Given the description of an element on the screen output the (x, y) to click on. 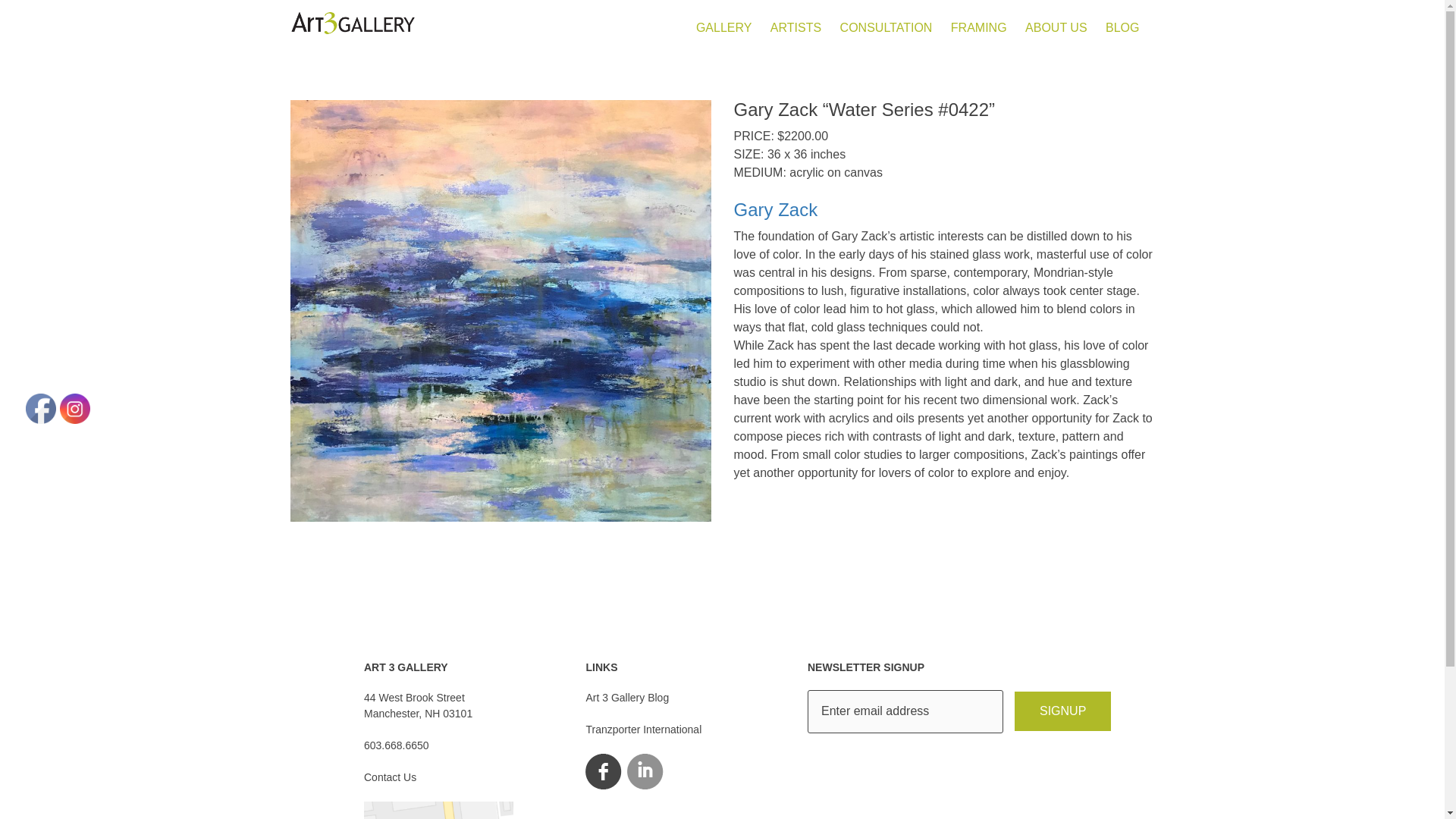
Contact Us (390, 776)
Gary Zack (943, 209)
603.668.6650 (396, 745)
FRAMING (978, 27)
Facebook (41, 408)
Tranzporter International (417, 705)
ABOUT US (643, 729)
SIGNUP (1056, 27)
ARTISTS (1062, 711)
